Given the description of an element on the screen output the (x, y) to click on. 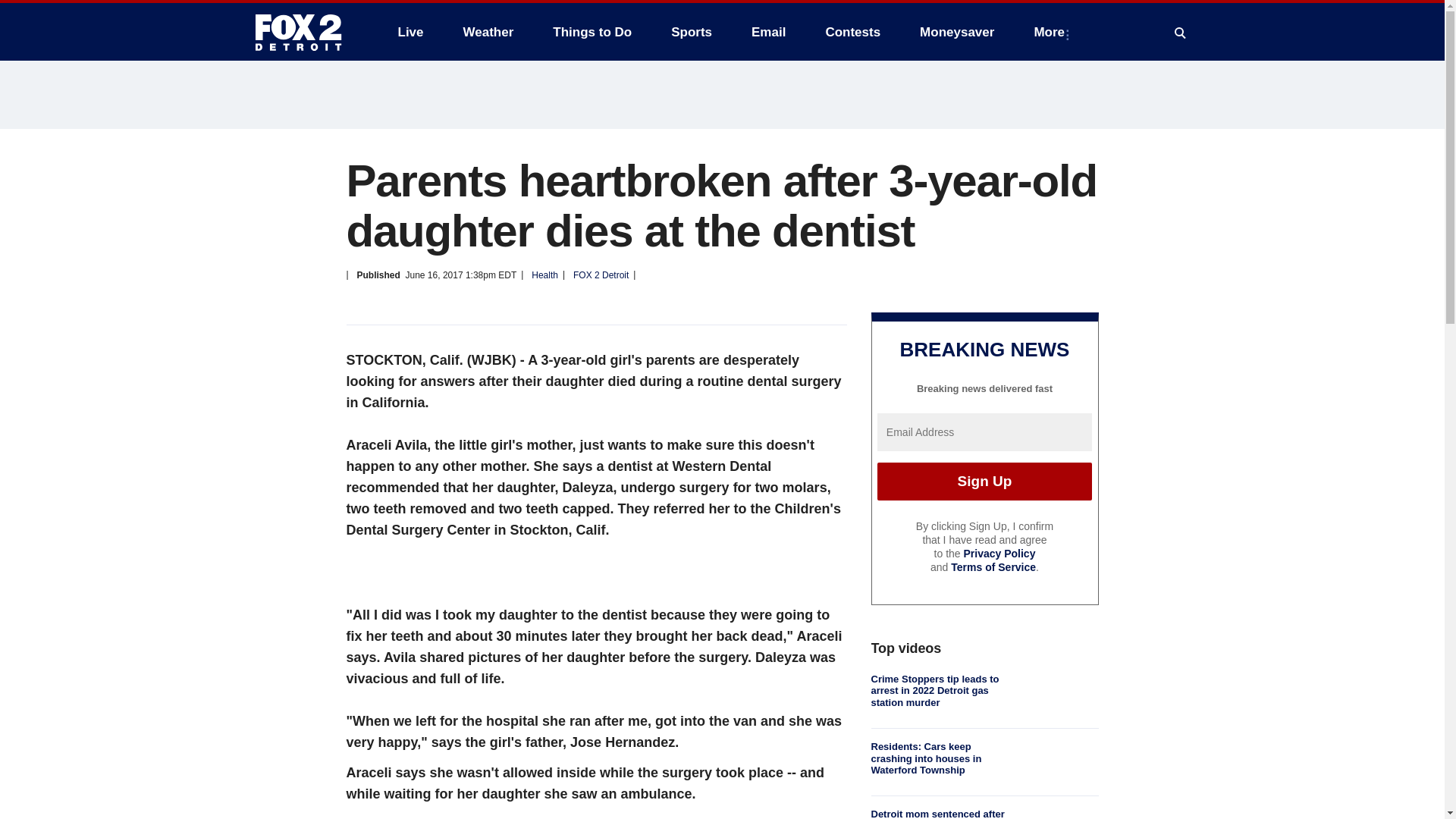
Moneysaver (956, 32)
Email (768, 32)
Sports (691, 32)
Live (410, 32)
Things to Do (591, 32)
Sign Up (984, 481)
Contests (852, 32)
Weather (488, 32)
More (1052, 32)
